Given the description of an element on the screen output the (x, y) to click on. 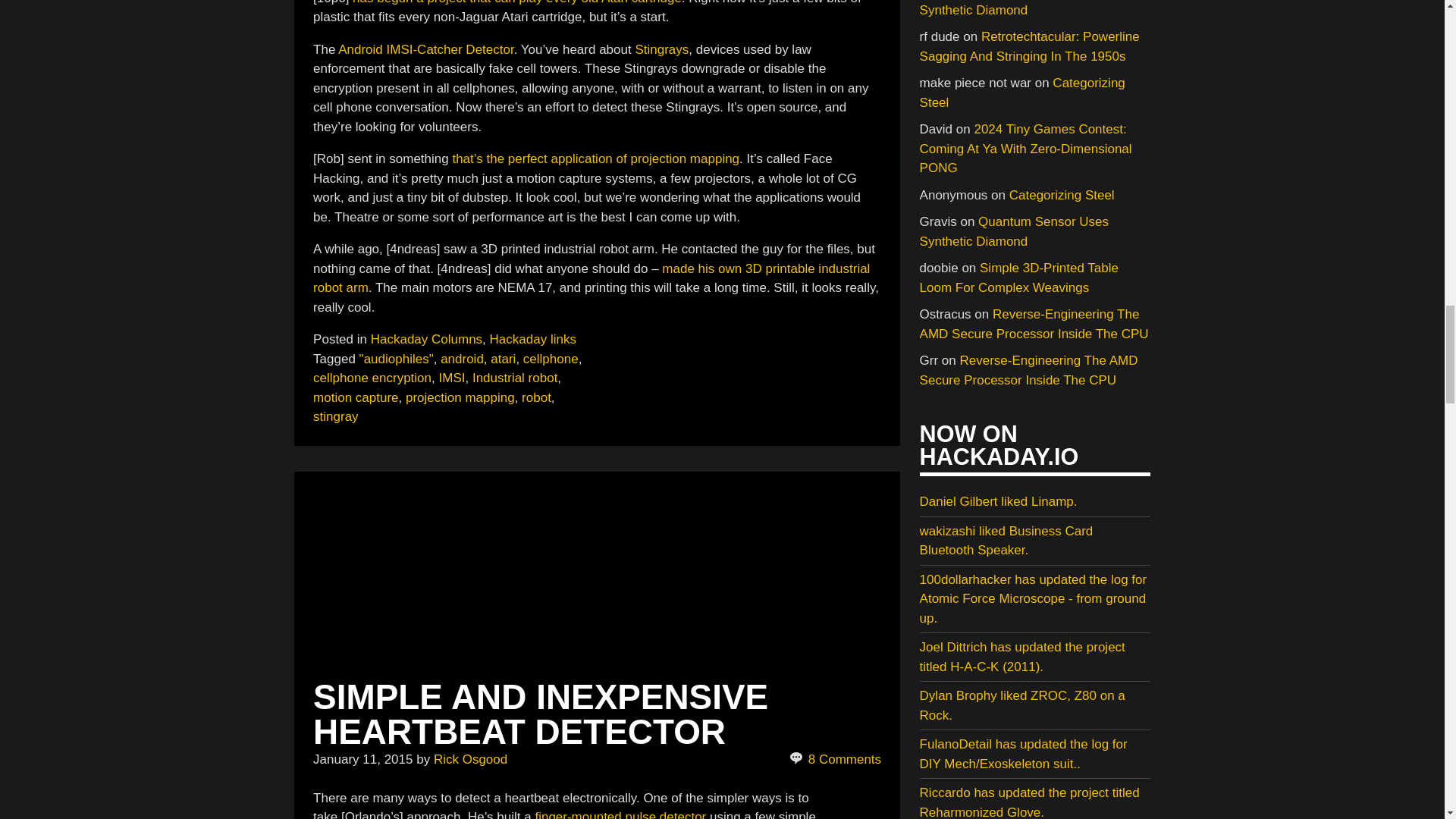
Posts by Rick Osgood (469, 759)
Hackaday.io (620, 814)
January 11, 2015 - 1:00 pm (362, 759)
